Given the description of an element on the screen output the (x, y) to click on. 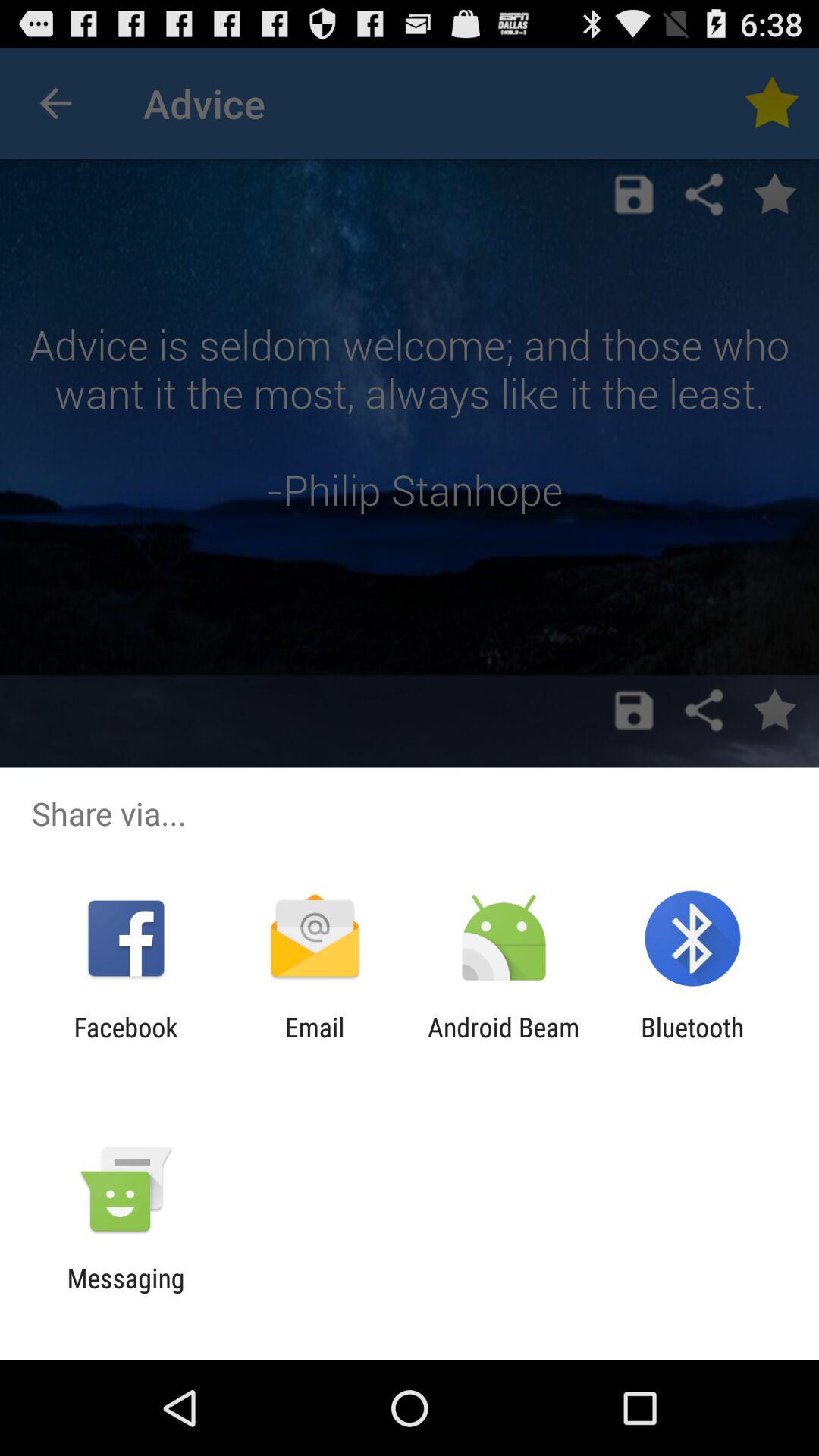
choose the app to the left of android beam item (314, 1042)
